Given the description of an element on the screen output the (x, y) to click on. 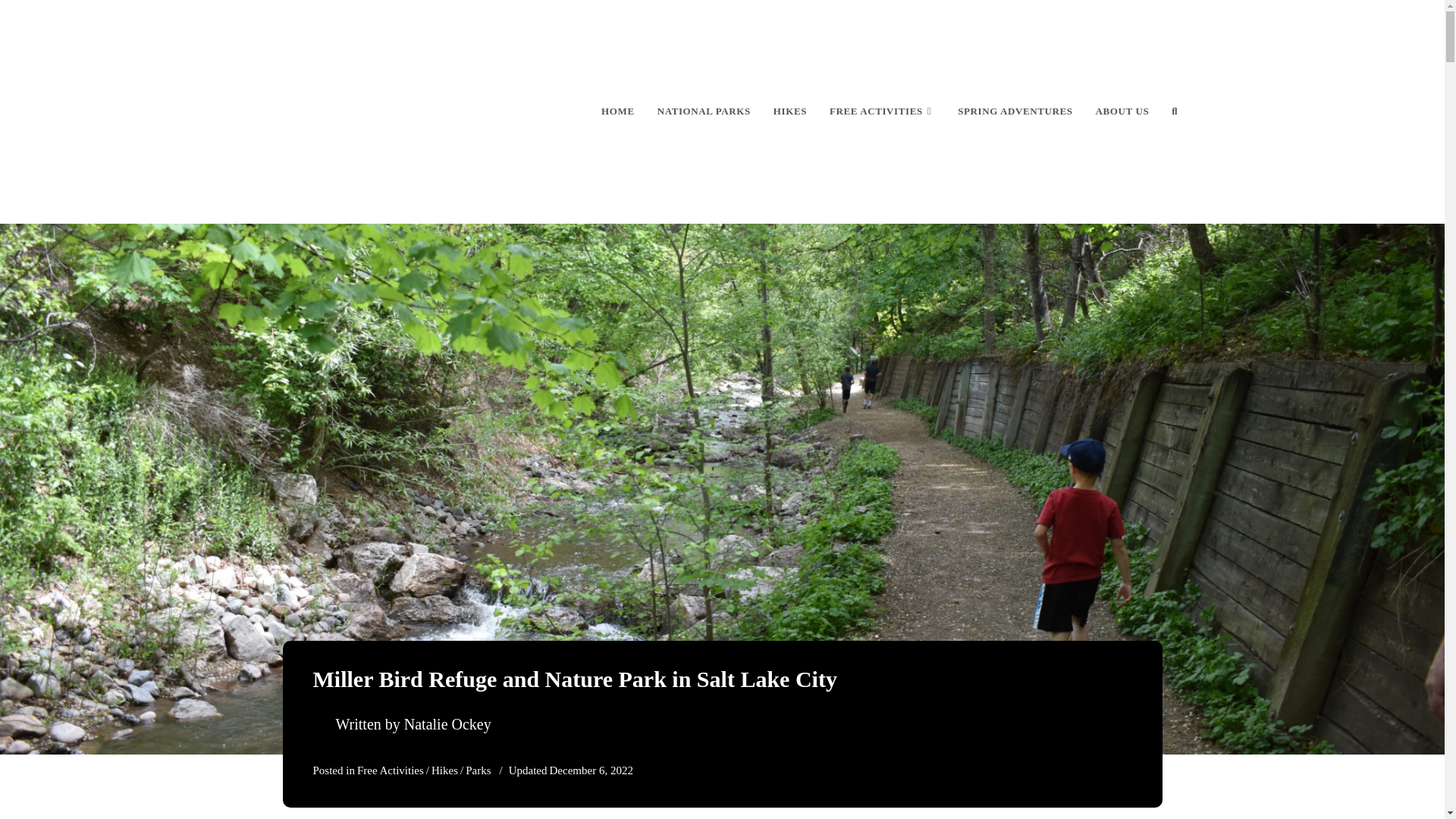
HIKES (789, 111)
SPRING ADVENTURES (1014, 111)
Free Activities (389, 770)
Hikes (444, 770)
NATIONAL PARKS (703, 111)
Natalie Ockey (448, 723)
FREE ACTIVITIES (882, 111)
HOME (617, 111)
ABOUT US (1122, 111)
Parks (477, 770)
